Given the description of an element on the screen output the (x, y) to click on. 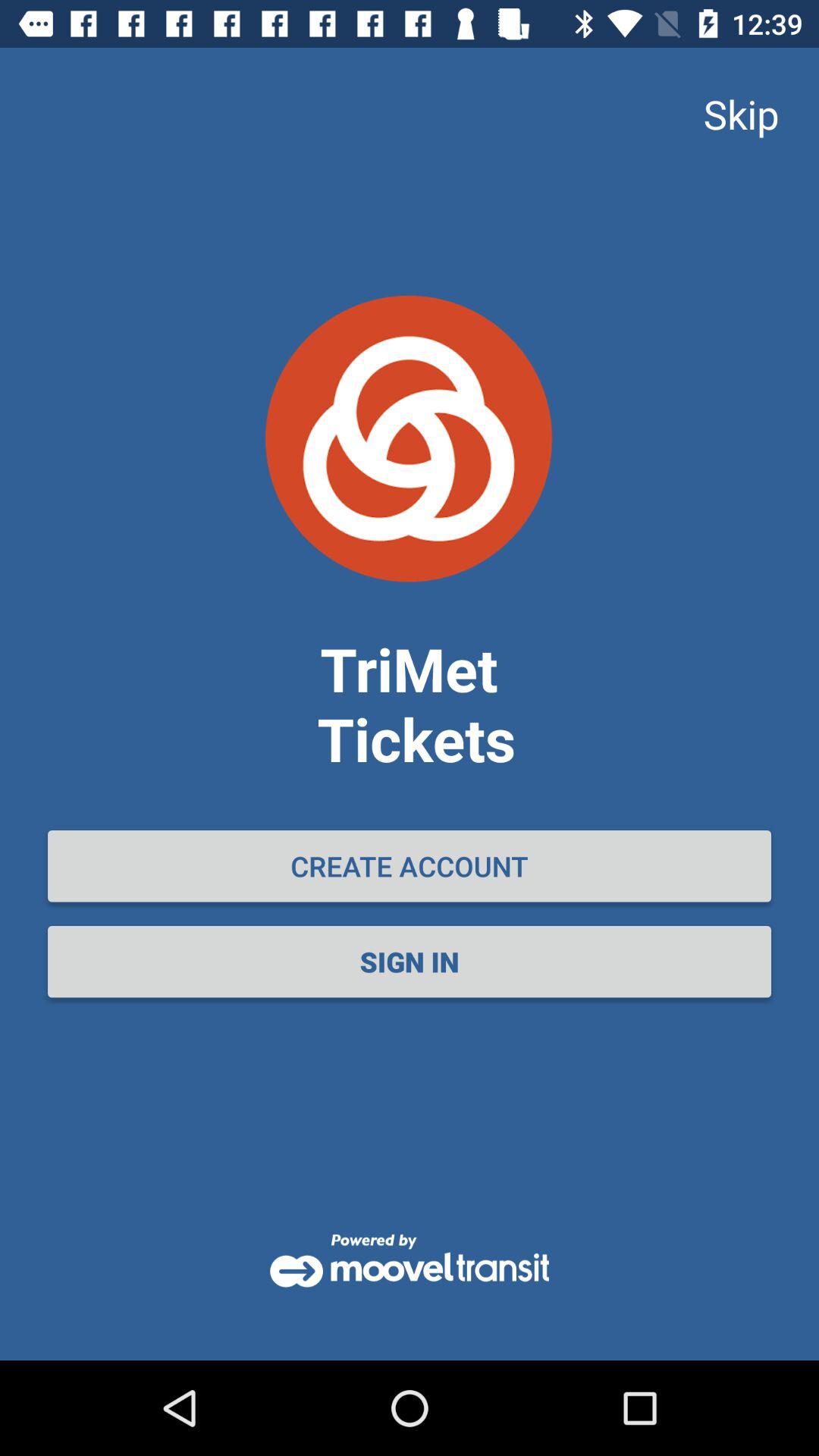
turn off the icon below the trimet
 tickets icon (409, 865)
